Given the description of an element on the screen output the (x, y) to click on. 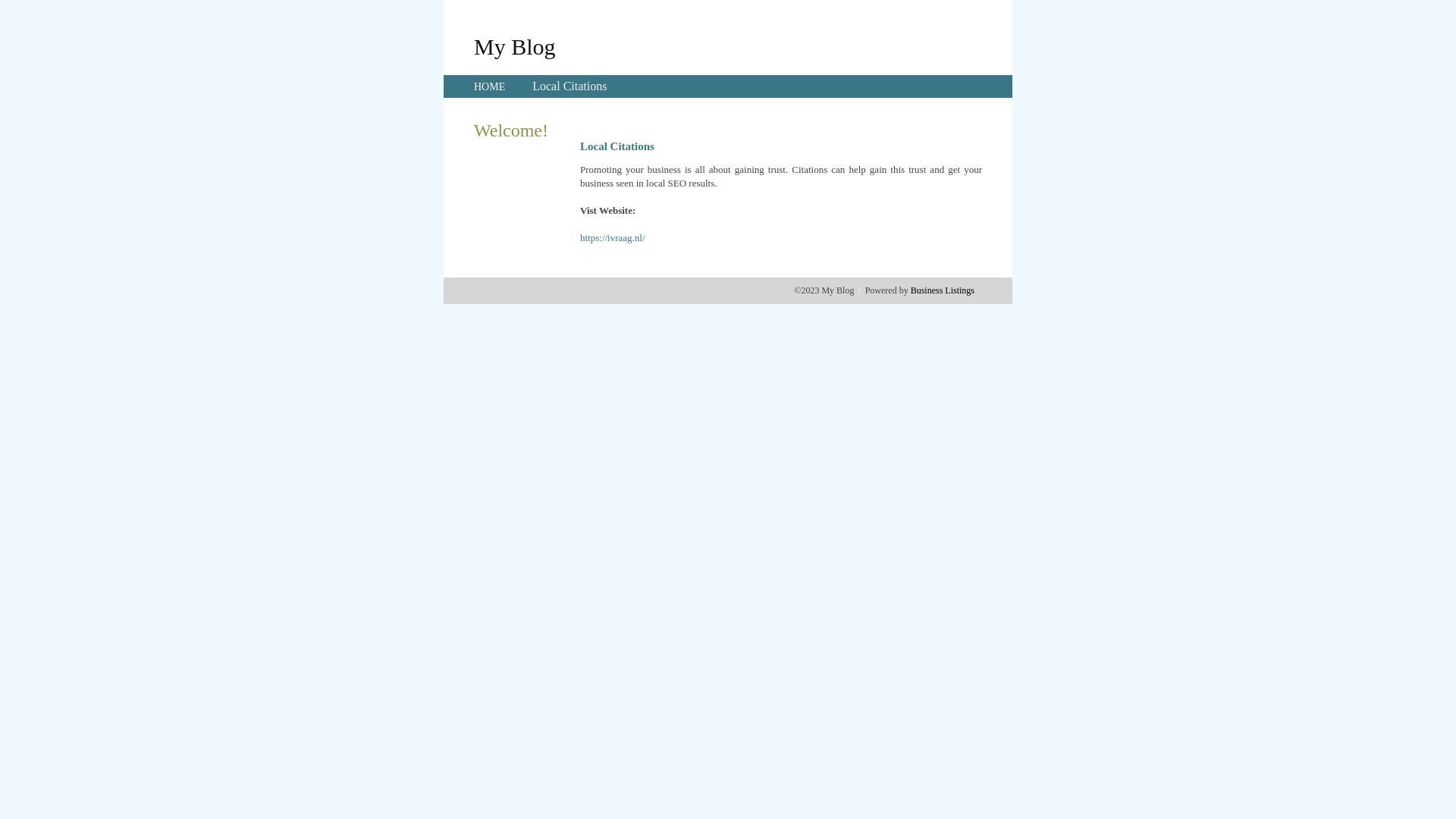
My Blog Element type: text (514, 46)
HOME Element type: text (489, 86)
Business Listings Element type: text (942, 290)
https://ivraag.nl/ Element type: text (612, 237)
Local Citations Element type: text (569, 85)
